Given the description of an element on the screen output the (x, y) to click on. 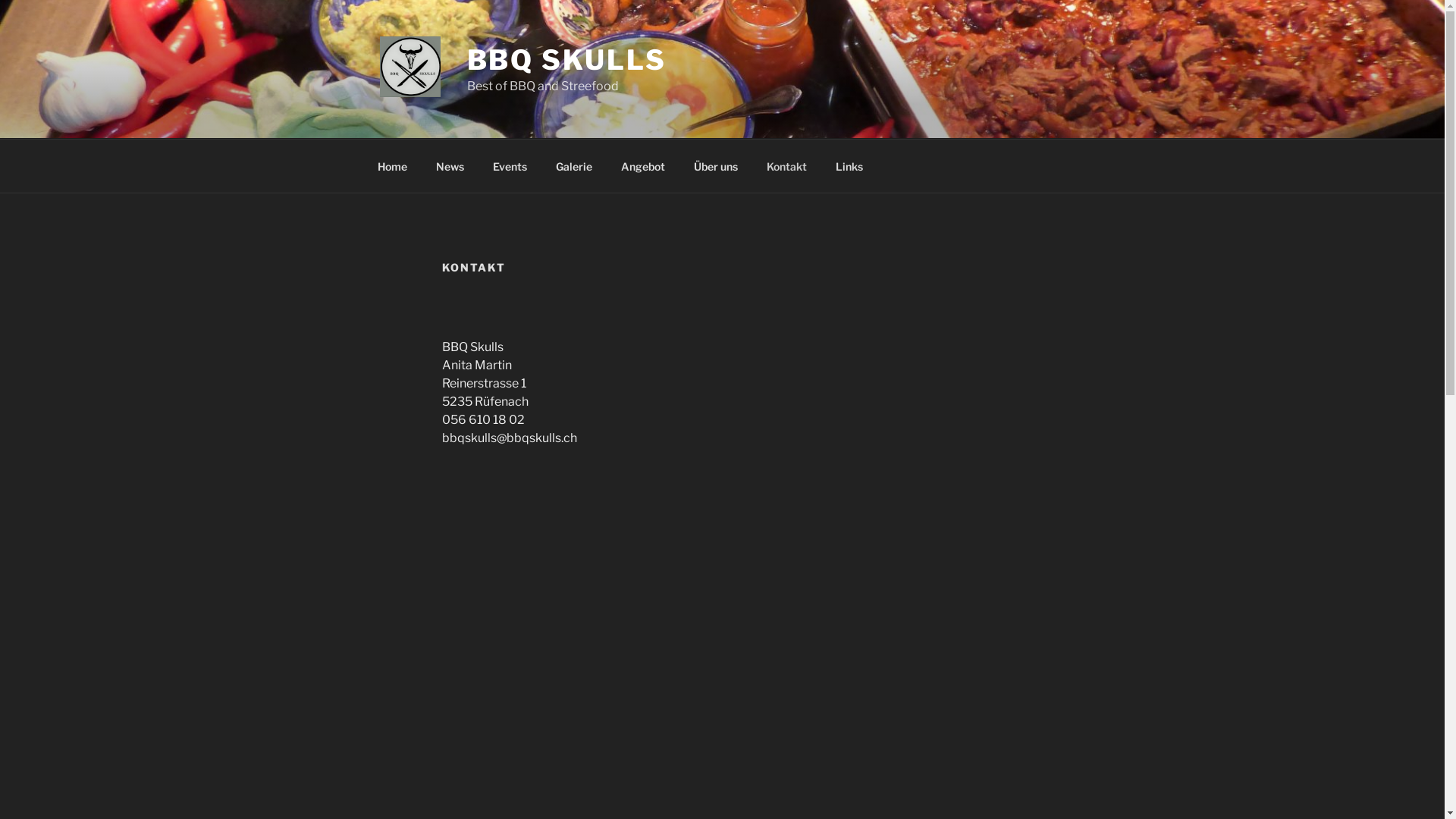
Angebot Element type: text (643, 165)
Zum Inhalt springen Element type: text (0, 0)
BBQ SKULLS Element type: text (567, 59)
Events Element type: text (509, 165)
Galerie Element type: text (573, 165)
News Element type: text (450, 165)
Links Element type: text (848, 165)
Kontakt Element type: text (786, 165)
Home Element type: text (392, 165)
